Given the description of an element on the screen output the (x, y) to click on. 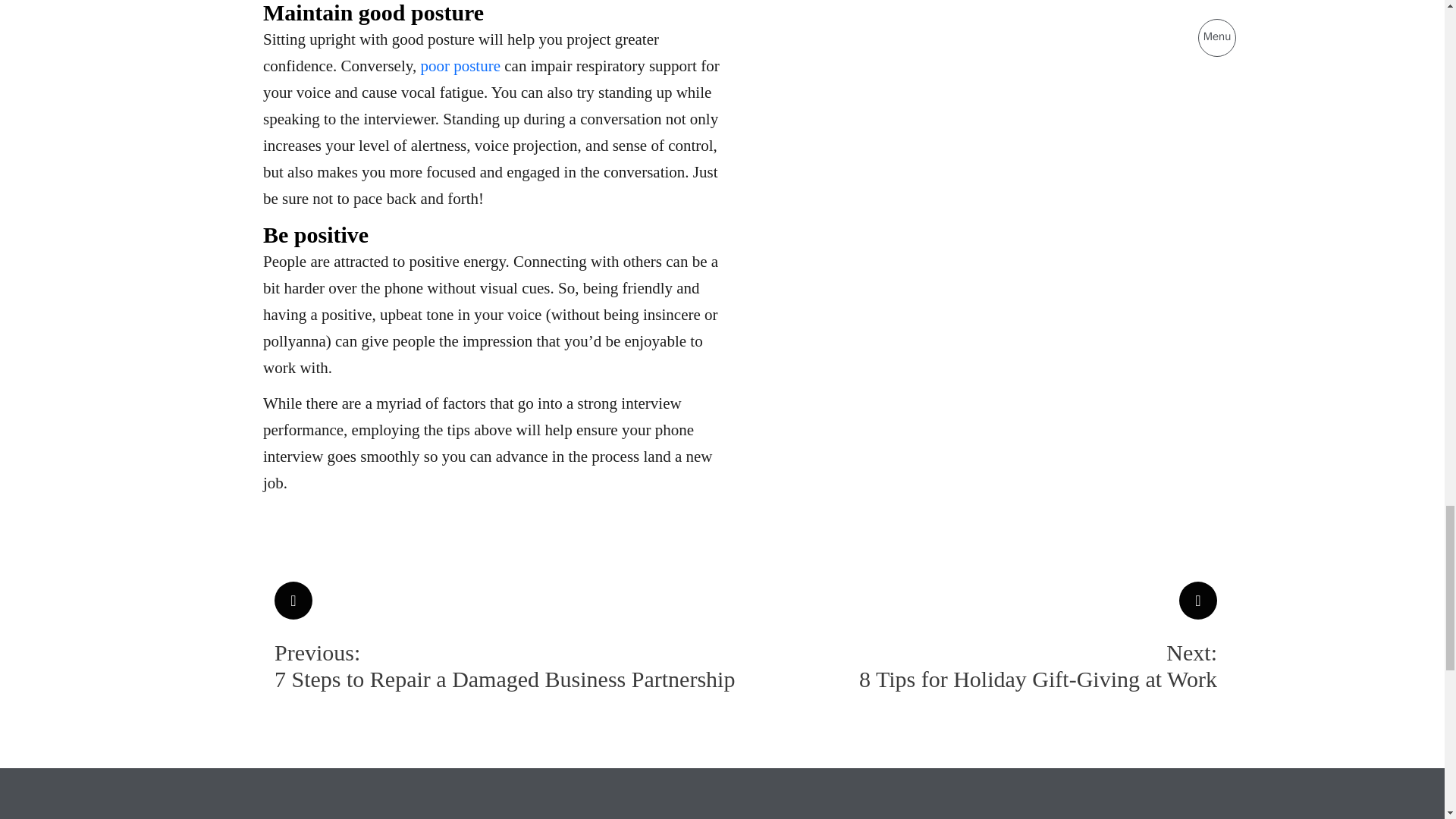
poor posture (460, 65)
